Given the description of an element on the screen output the (x, y) to click on. 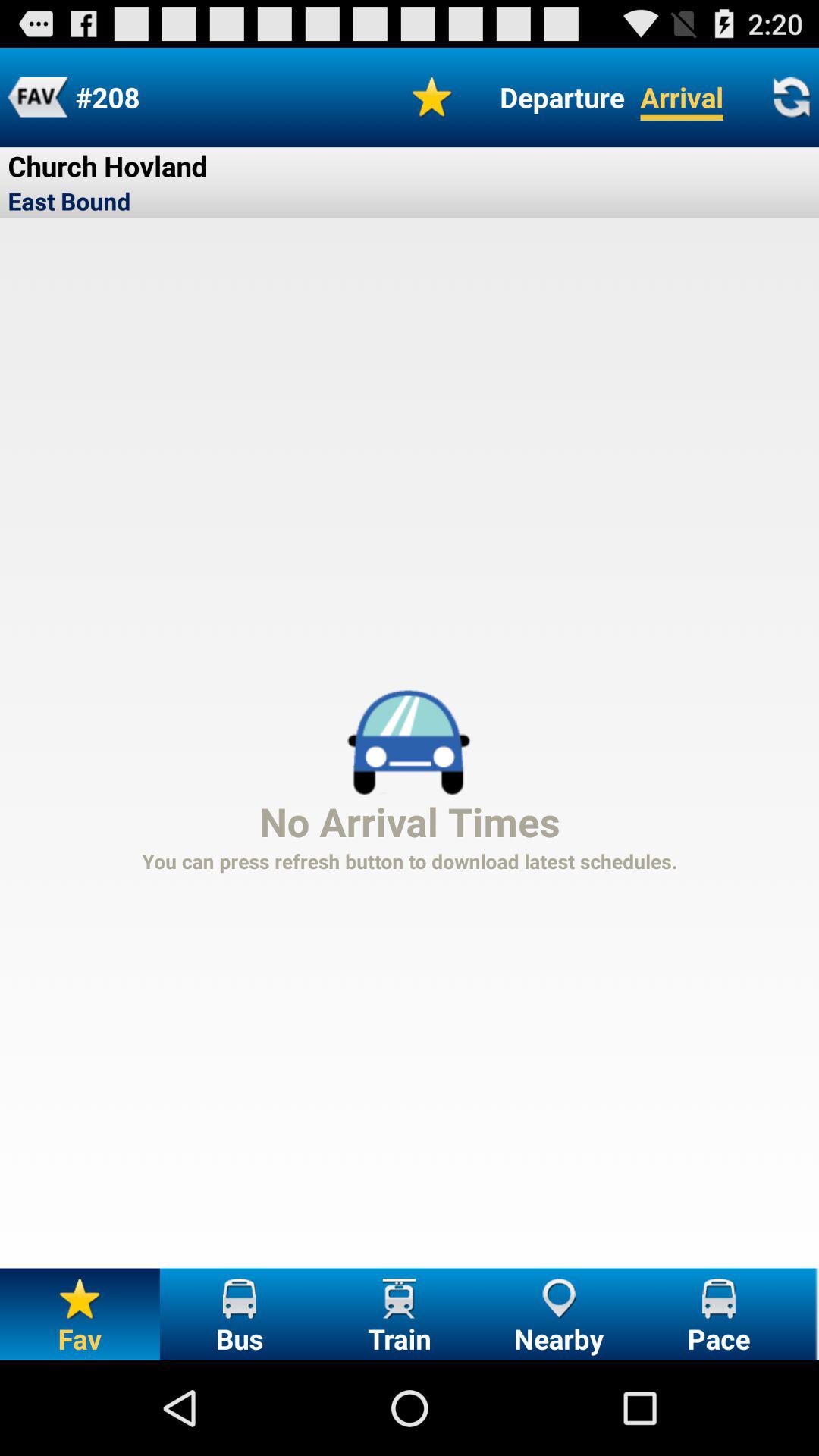
etc (37, 97)
